Given the description of an element on the screen output the (x, y) to click on. 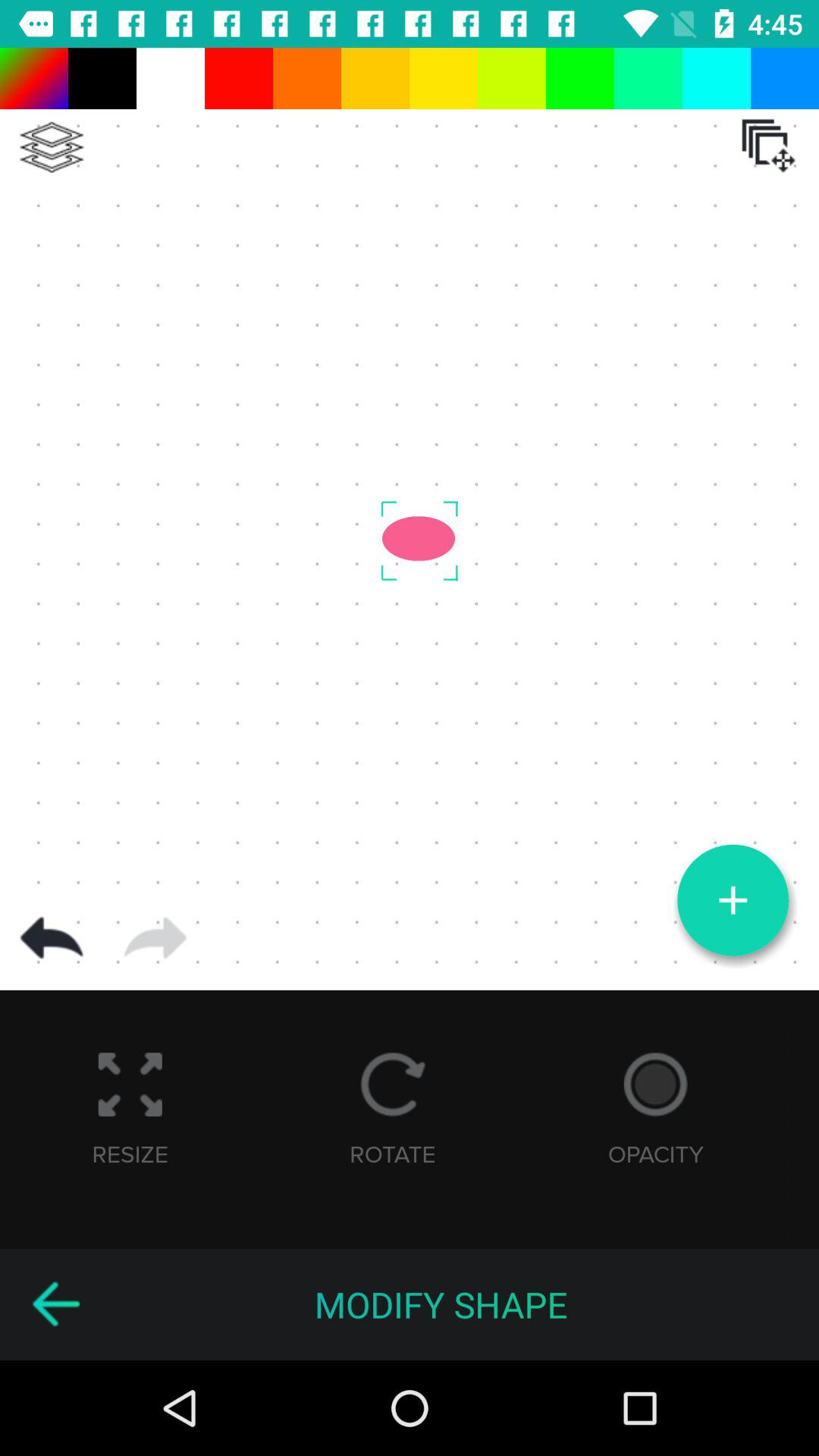
add layers (51, 147)
